Given the description of an element on the screen output the (x, y) to click on. 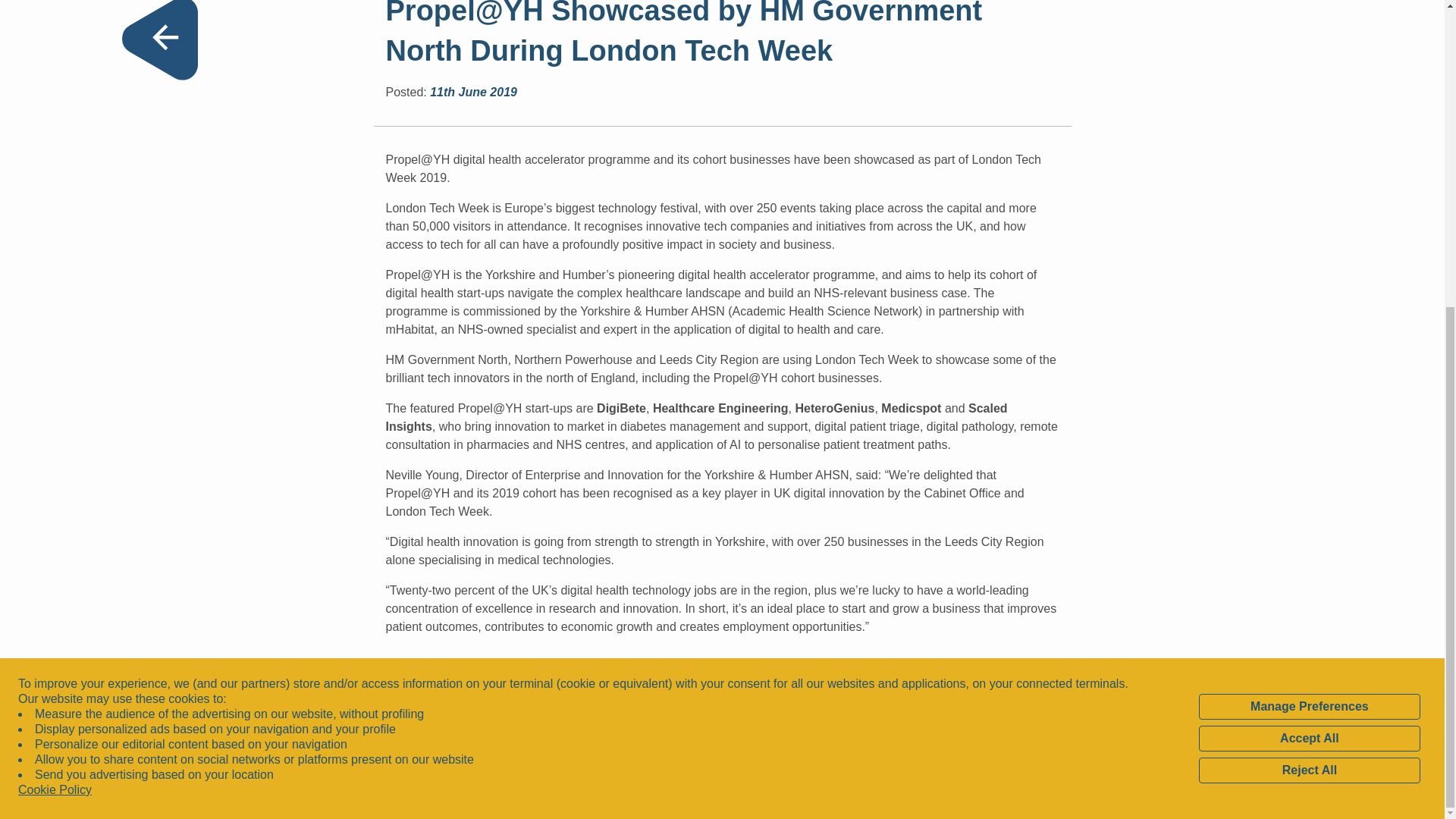
Youtube (883, 712)
Reject All (1309, 287)
Accept All (1309, 255)
Back to list page (158, 40)
Linked In (909, 712)
Twitter (935, 712)
Manage Preferences (1309, 223)
Cookie Policy (54, 306)
